Given the description of an element on the screen output the (x, y) to click on. 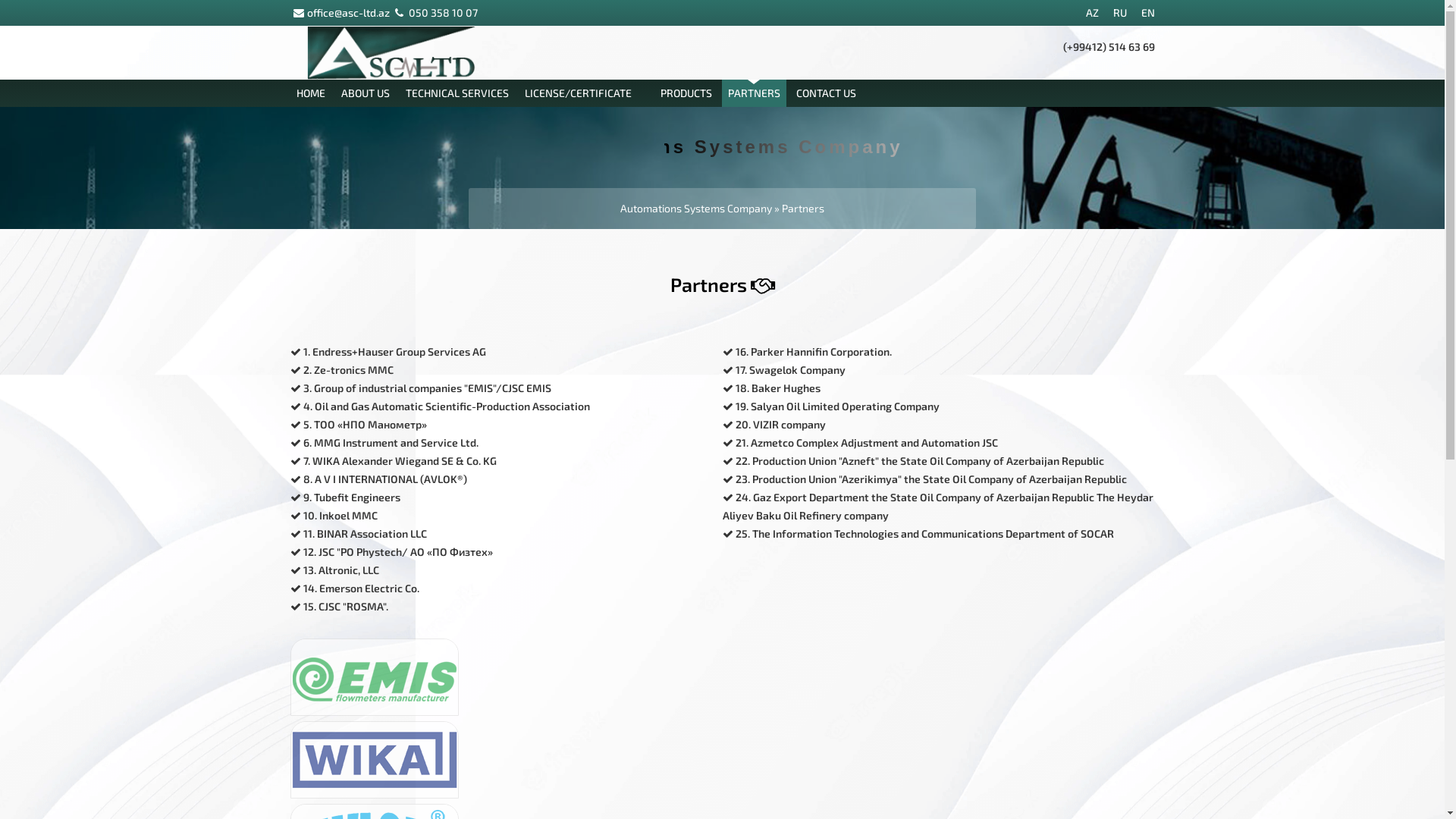
RU Element type: text (1113, 12)
ABOUT US Element type: text (365, 92)
LICENSE/CERTIFICATE Element type: text (584, 92)
office@asc-ltd.az Element type: text (347, 12)
PRODUCTS Element type: text (685, 92)
AZ Element type: text (1085, 12)
EN Element type: text (1141, 12)
HOME Element type: text (309, 92)
TECHNICAL SERVICES Element type: text (456, 92)
CONTACT US Element type: text (826, 92)
PARTNERS Element type: text (753, 92)
Automations Systems Company Element type: text (695, 207)
